Given the description of an element on the screen output the (x, y) to click on. 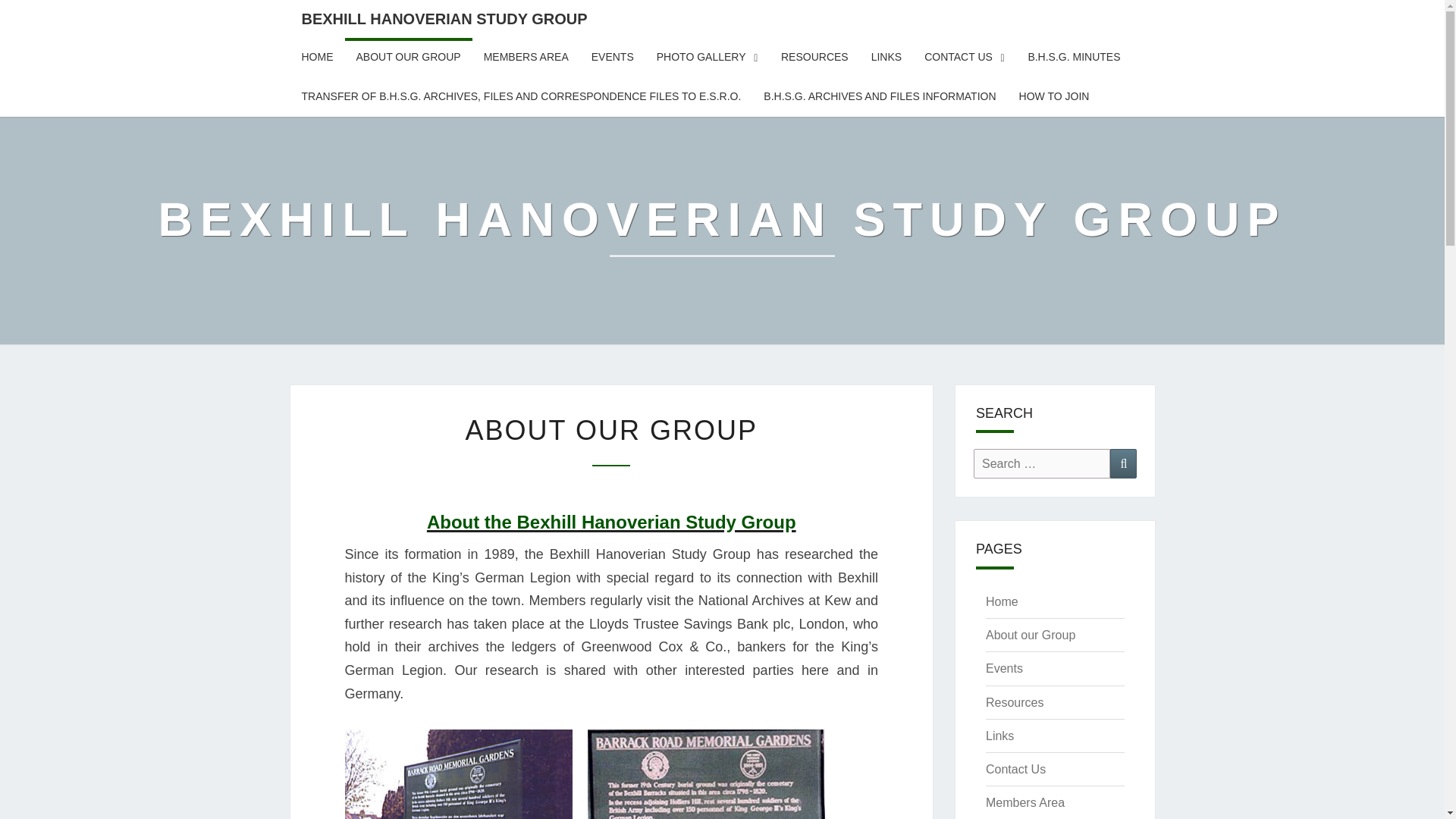
HOW TO JOIN (1053, 96)
About our Group (1030, 634)
Search for: (1041, 463)
PHOTO GALLERY (707, 56)
BEXHILL HANOVERIAN STUDY GROUP (722, 230)
B.H.S.G. MINUTES (1073, 56)
RESOURCES (815, 56)
Search (1123, 463)
BEXHILL HANOVERIAN STUDY GROUP (443, 18)
Bexhill Hanoverian Study Group (722, 230)
Resources (1014, 702)
ABOUT OUR GROUP (407, 56)
EVENTS (612, 56)
LINKS (886, 56)
